Given the description of an element on the screen output the (x, y) to click on. 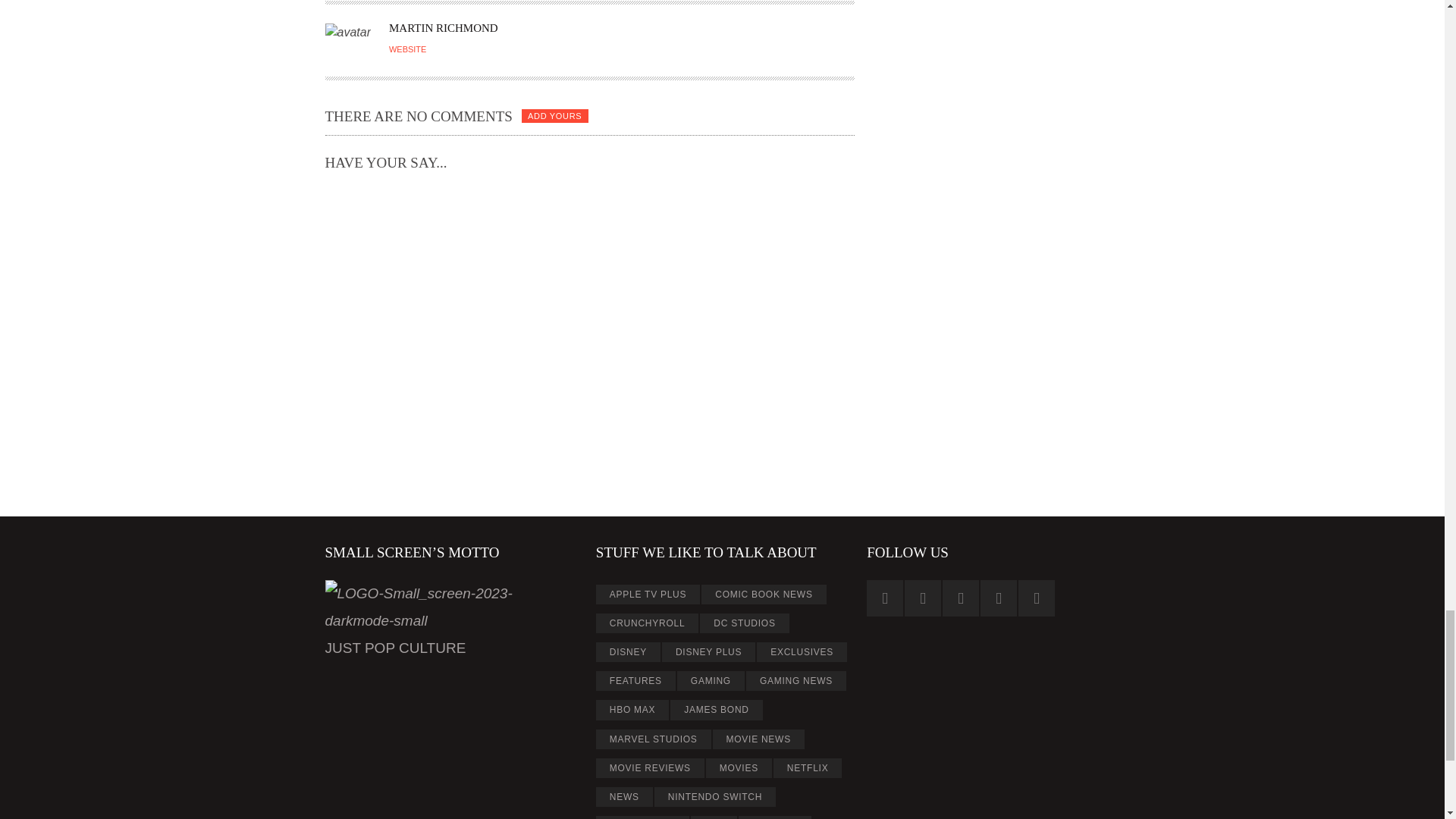
Posts by Martin Richmond (442, 28)
